Given the description of an element on the screen output the (x, y) to click on. 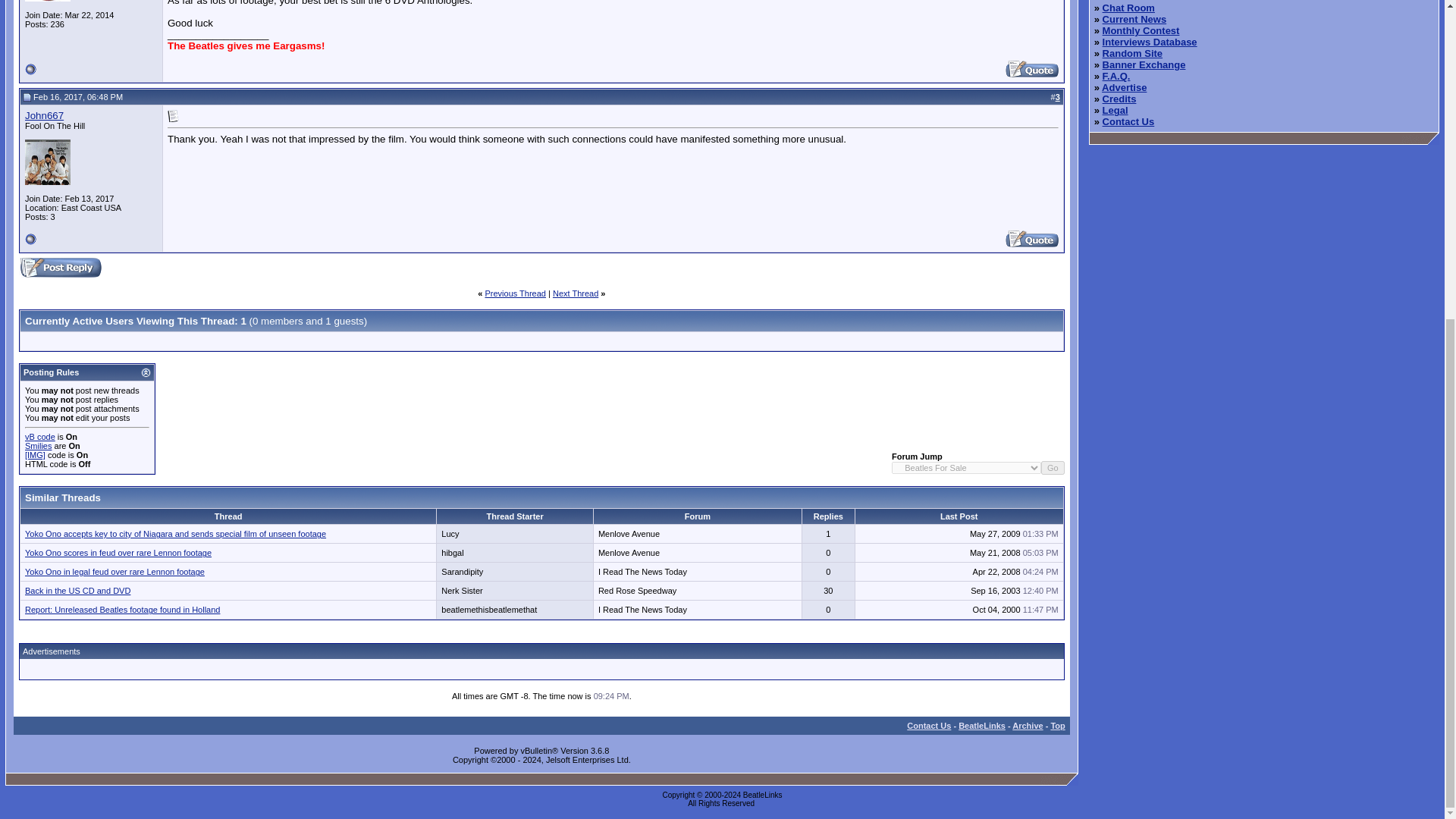
Bongo's Avatar (46, 0)
Go (1052, 468)
